Given the description of an element on the screen output the (x, y) to click on. 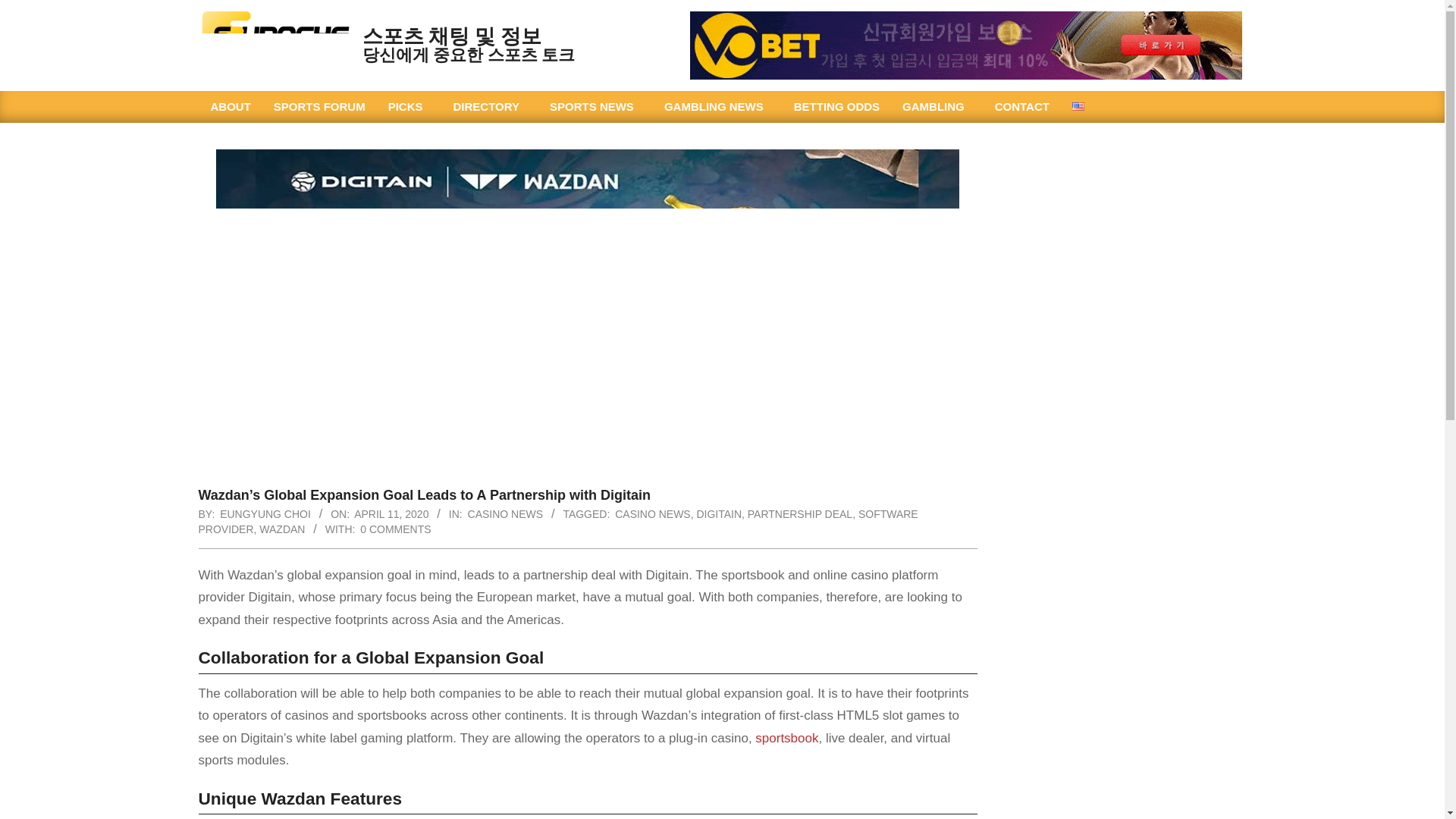
ABOUT (230, 106)
Posts by Eungyung Choi (265, 513)
Saturday, April 11, 2020, 10:50 am (390, 513)
BETTING ODDS (837, 106)
DIRECTORY (490, 106)
SPORTS NEWS (595, 106)
GAMBLING NEWS (717, 106)
PICKS (409, 106)
SPORTS FORUM (319, 106)
